Given the description of an element on the screen output the (x, y) to click on. 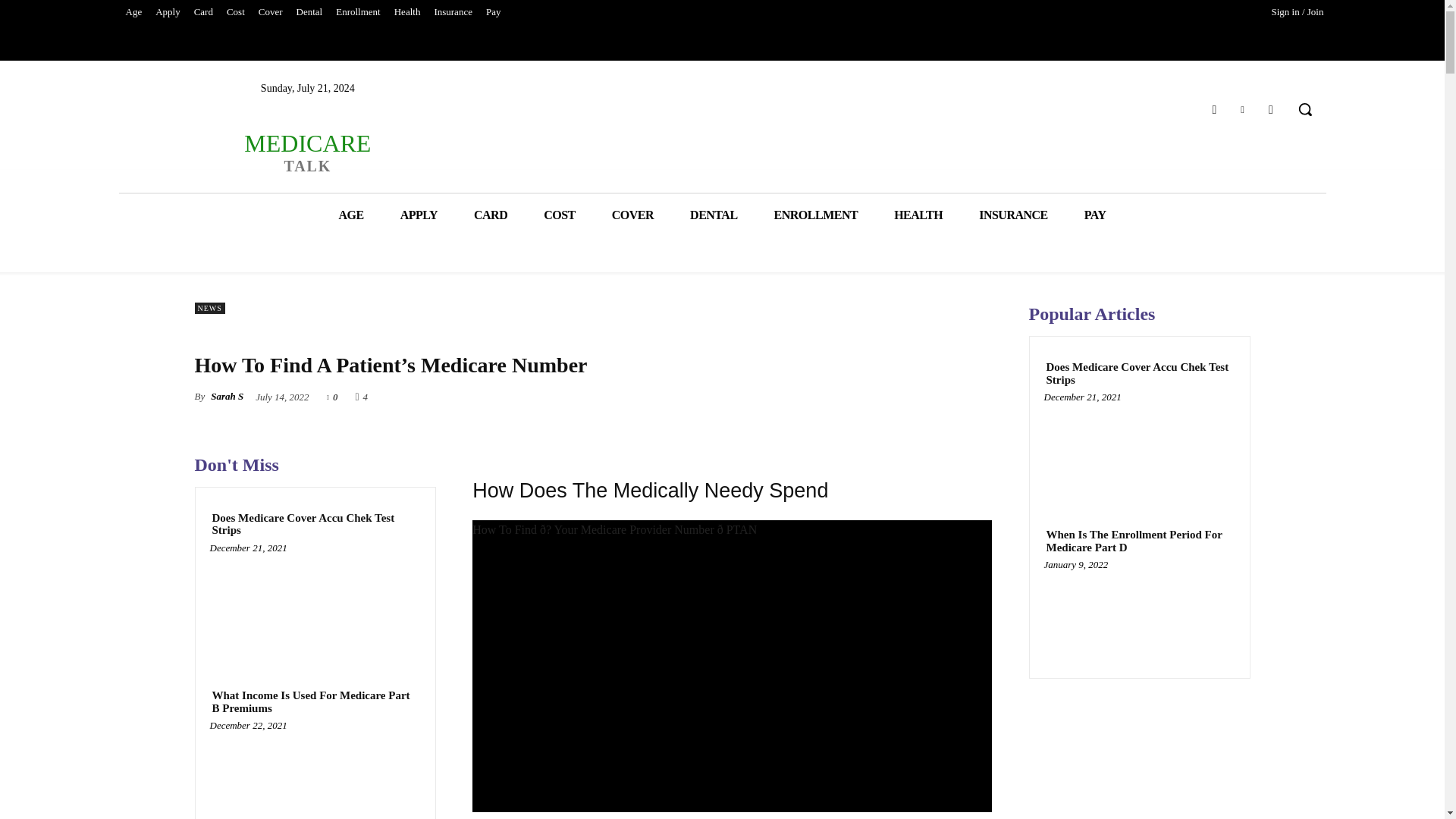
Dental (309, 12)
Apply (167, 12)
Pay (306, 151)
Twitter (493, 12)
What Income Is Used For Medicare Part B Premiums (1241, 109)
Facebook (314, 773)
Youtube (1214, 109)
Insurance (1270, 109)
Card (452, 12)
Health (203, 12)
Does Medicare Cover Accu Chek Test Strips (407, 12)
Cost (314, 603)
Enrollment (235, 12)
Cover (358, 12)
